Given the description of an element on the screen output the (x, y) to click on. 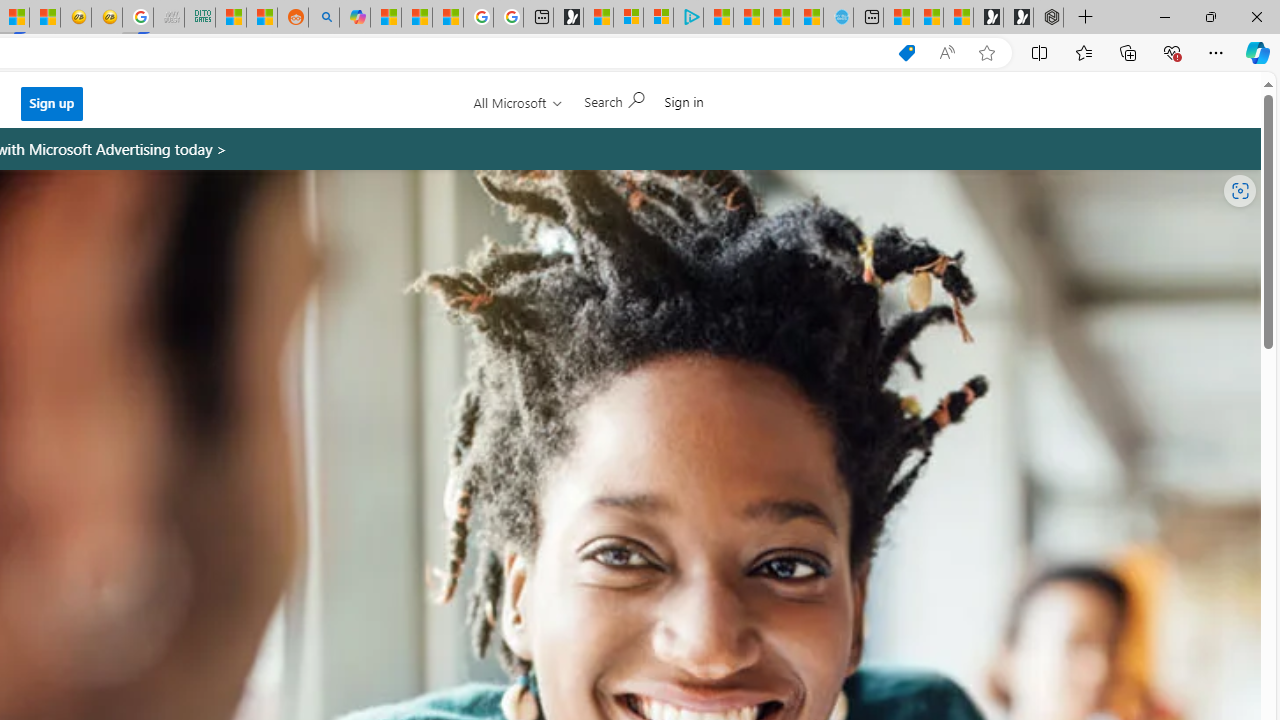
Navy Quest (168, 17)
Microsoft Copilot in Bing (354, 17)
Sign in (684, 101)
Shopping in Microsoft Edge (906, 53)
Nordace - Nordace Siena Is Not An Ordinary Backpack (1048, 17)
